Given the description of an element on the screen output the (x, y) to click on. 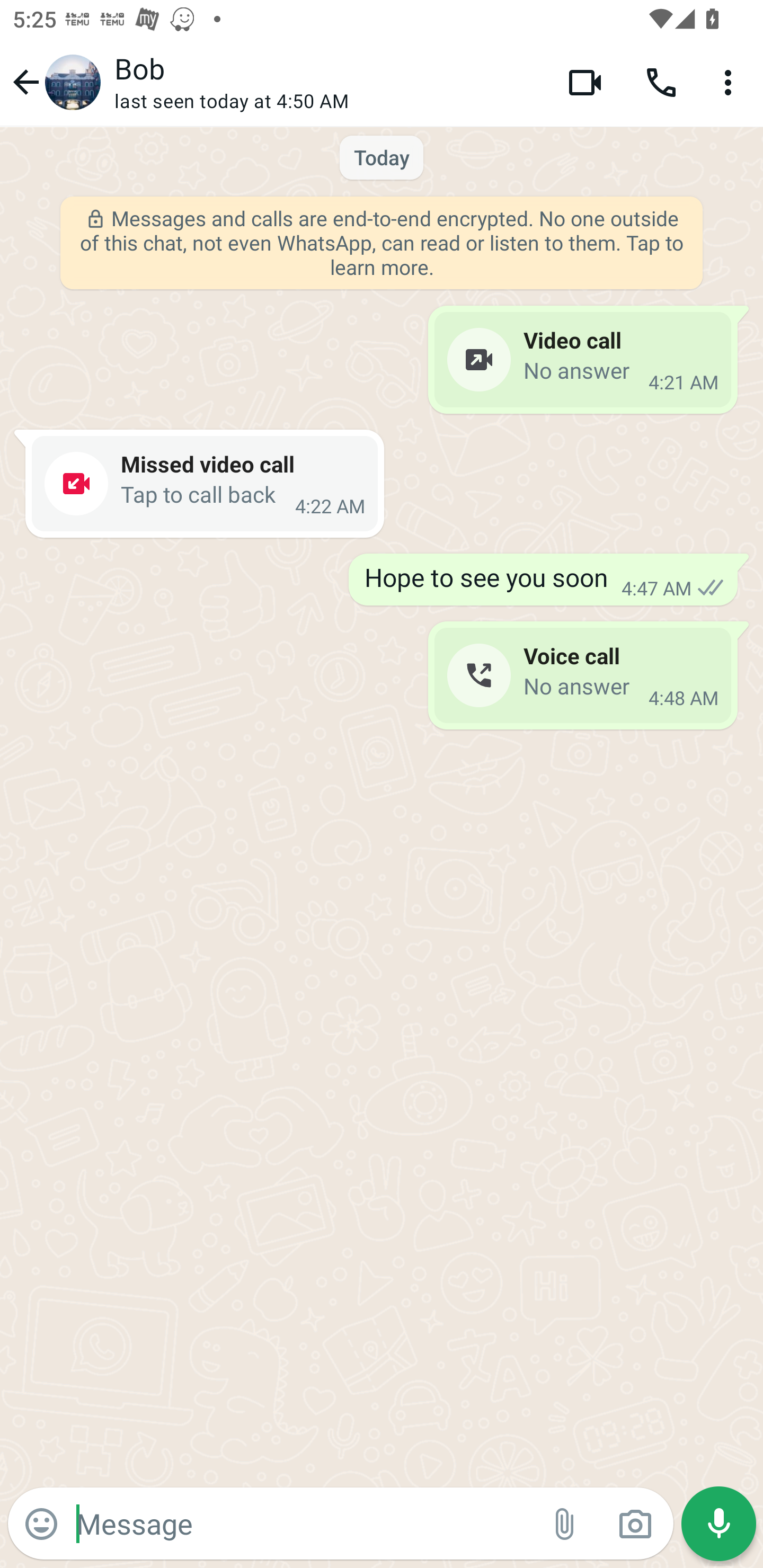
Bob last seen today at 4:50 AM (327, 82)
Navigate up (54, 82)
Video call (585, 81)
Voice call (661, 81)
More options (731, 81)
Emoji (41, 1523)
Attach (565, 1523)
Camera (634, 1523)
Message (303, 1523)
